Given the description of an element on the screen output the (x, y) to click on. 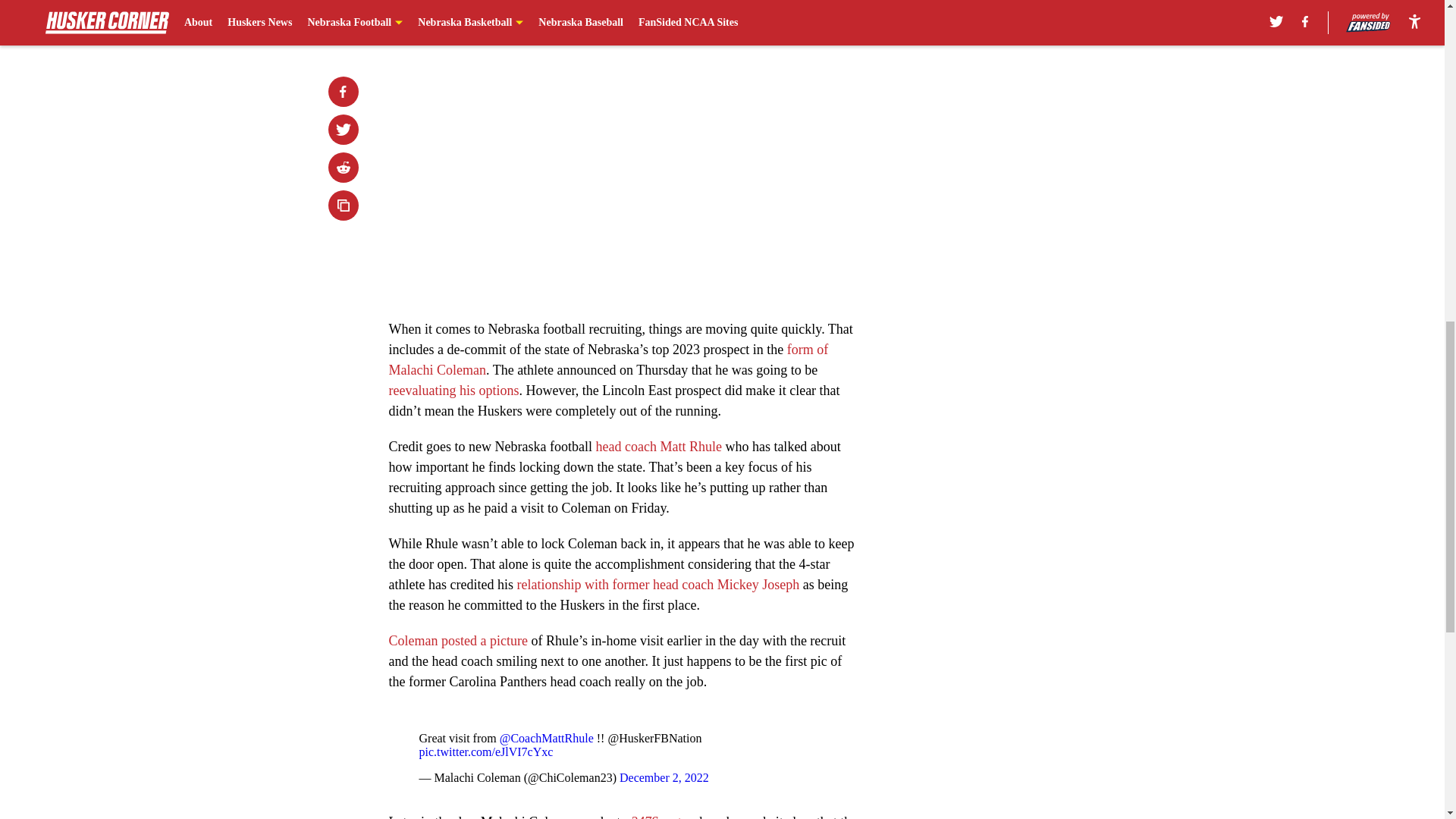
relationship with former head coach Mickey Joseph (657, 584)
head coach Matt Rhule (657, 446)
Coleman posted a picture (457, 640)
247Sports (657, 816)
form of Malachi Coleman (608, 359)
reevaluating his options (453, 390)
December 2, 2022 (664, 777)
